Given the description of an element on the screen output the (x, y) to click on. 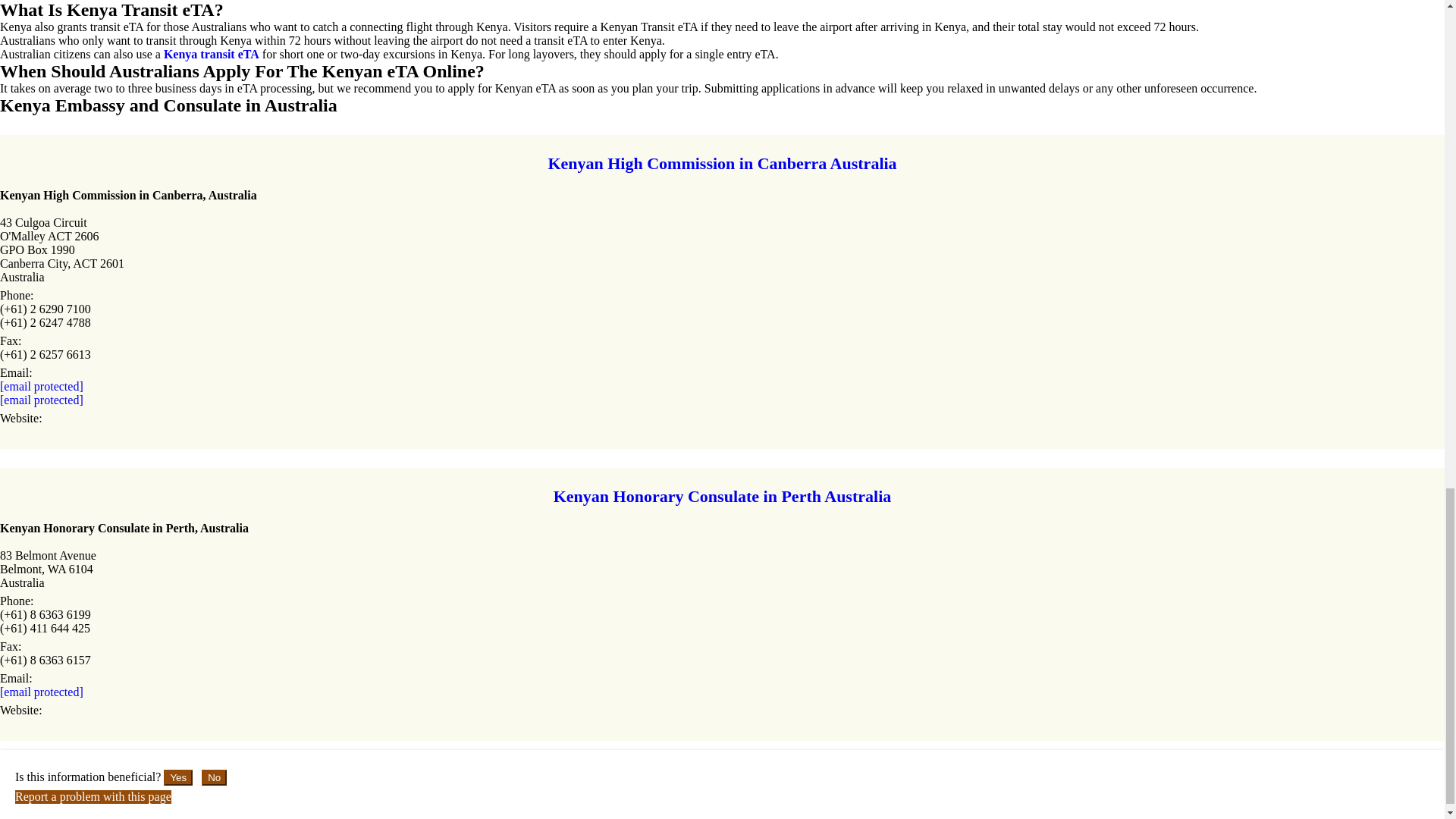
   Kenyan   High Commission  in Canberra    (721, 163)
No (214, 777)
   Kenyan  Honorary Consulate  in Perth    (722, 496)
Kenyan Honorary Consulate in Perth Australia (722, 496)
Kenyan High Commission in Canberra Australia (721, 163)
Kenya transit eTA (211, 53)
Yes (177, 777)
Kenya transit eTA (211, 53)
